Given the description of an element on the screen output the (x, y) to click on. 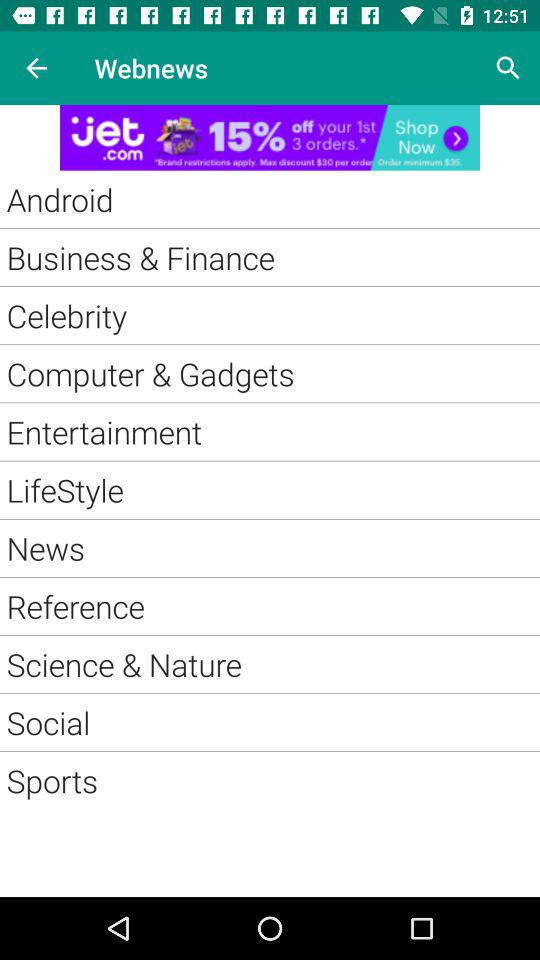
click advertisement (270, 137)
